Given the description of an element on the screen output the (x, y) to click on. 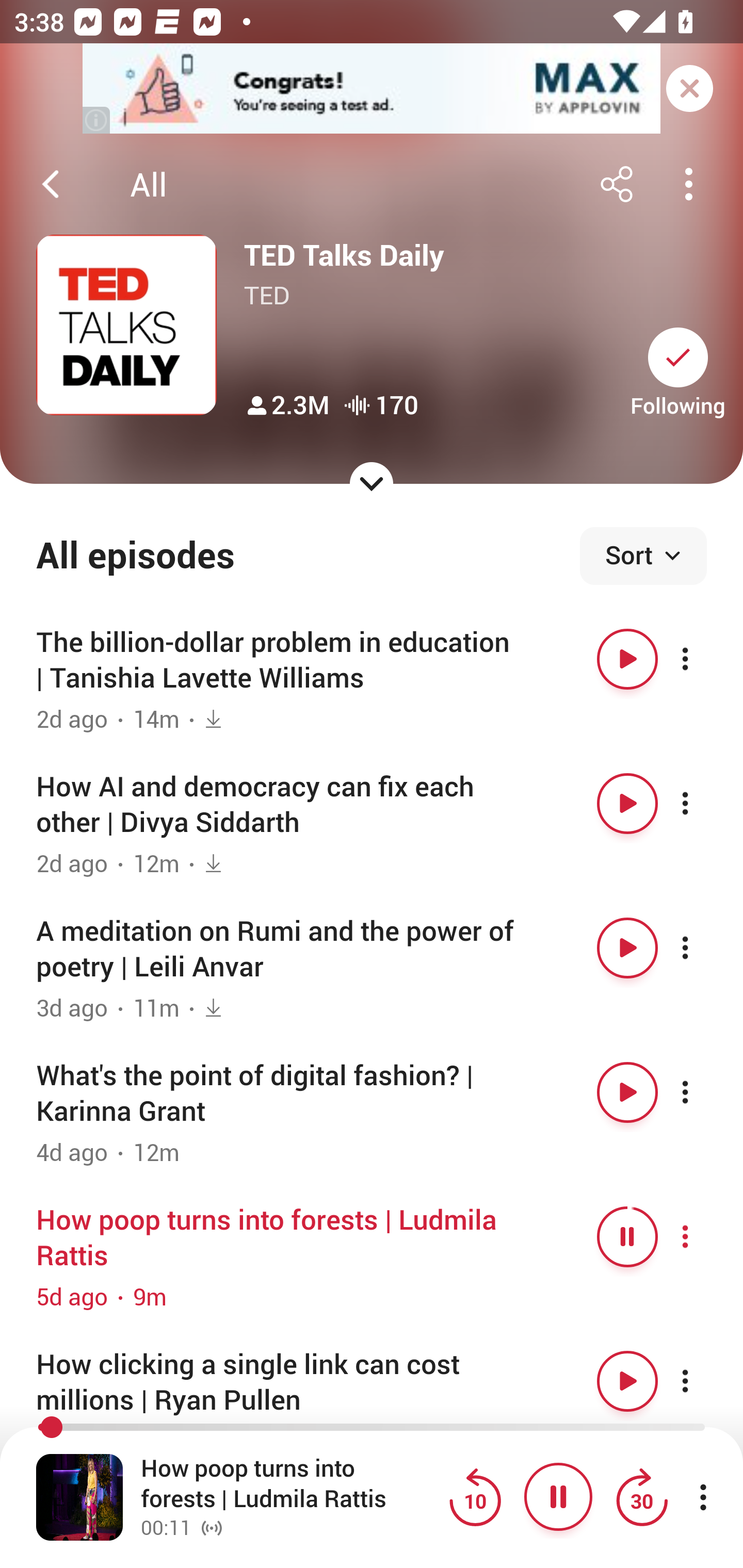
app-monetization (371, 88)
(i) (96, 119)
Back (50, 184)
Unsubscribe button (677, 357)
Sort episodes Sort (643, 555)
Play button (627, 659)
More options (703, 659)
Play button (627, 803)
More options (703, 803)
Play button (627, 947)
More options (703, 947)
Play button (627, 1092)
More options (703, 1092)
Pause button (627, 1236)
More options (703, 1236)
Play button (627, 1381)
More options (703, 1381)
Open fullscreen player (79, 1497)
More player controls (703, 1497)
How poop turns into forests | Ludmila Rattis (290, 1484)
Pause button (558, 1496)
Jump back (475, 1497)
Jump forward (641, 1497)
